Given the description of an element on the screen output the (x, y) to click on. 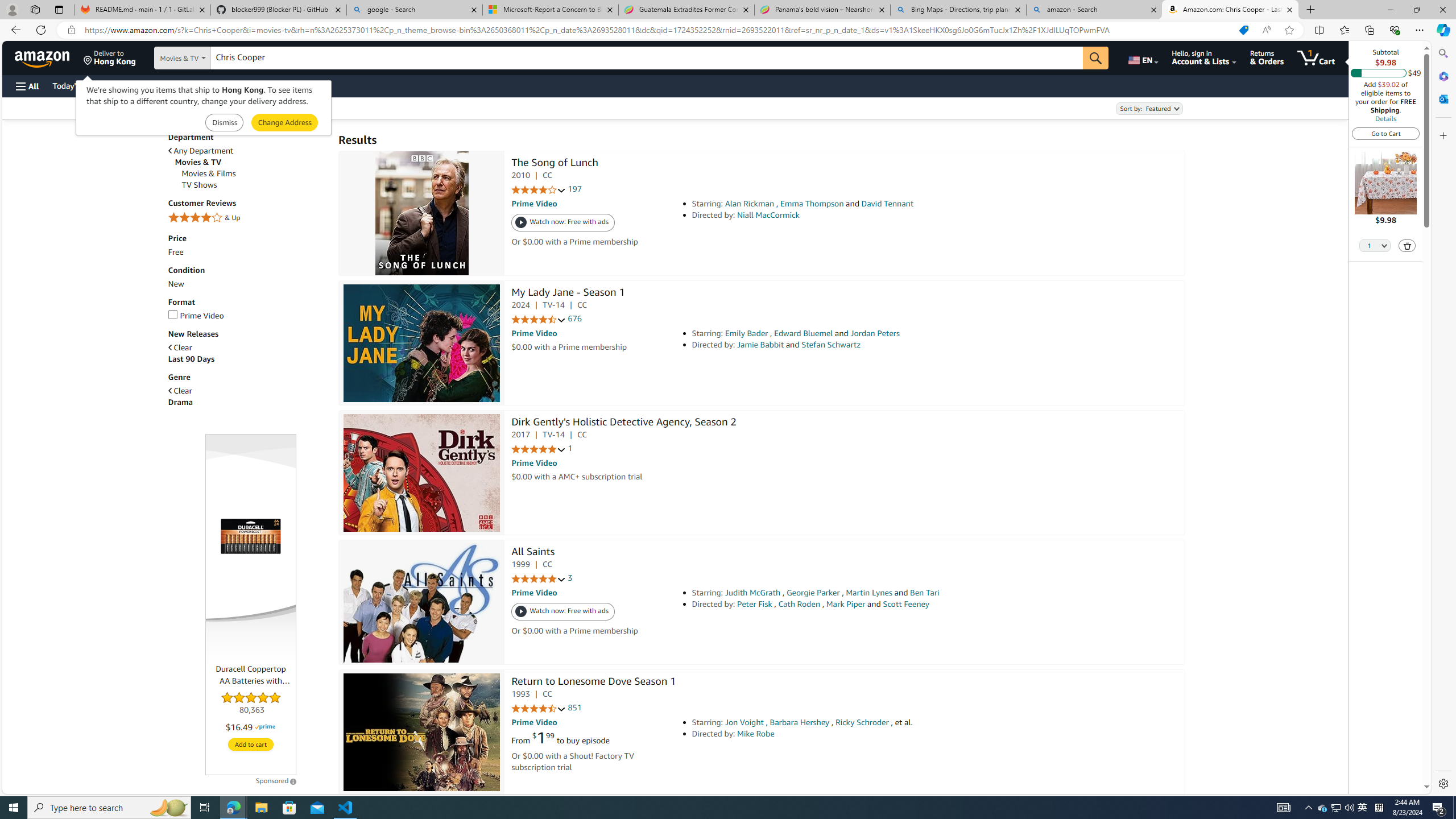
Starring: Emily Bader , Edward Bluemel and Jordan Peters (850, 333)
Georgie Parker (813, 592)
4.6 out of 5 stars (538, 708)
Any Department (247, 150)
Movies & Films (254, 173)
Returns & Orders (1266, 57)
Judith McGrath (752, 592)
Directed by: Jamie Babbit and Stefan Schwartz (850, 344)
Free (175, 251)
TV Shows (199, 184)
